Given the description of an element on the screen output the (x, y) to click on. 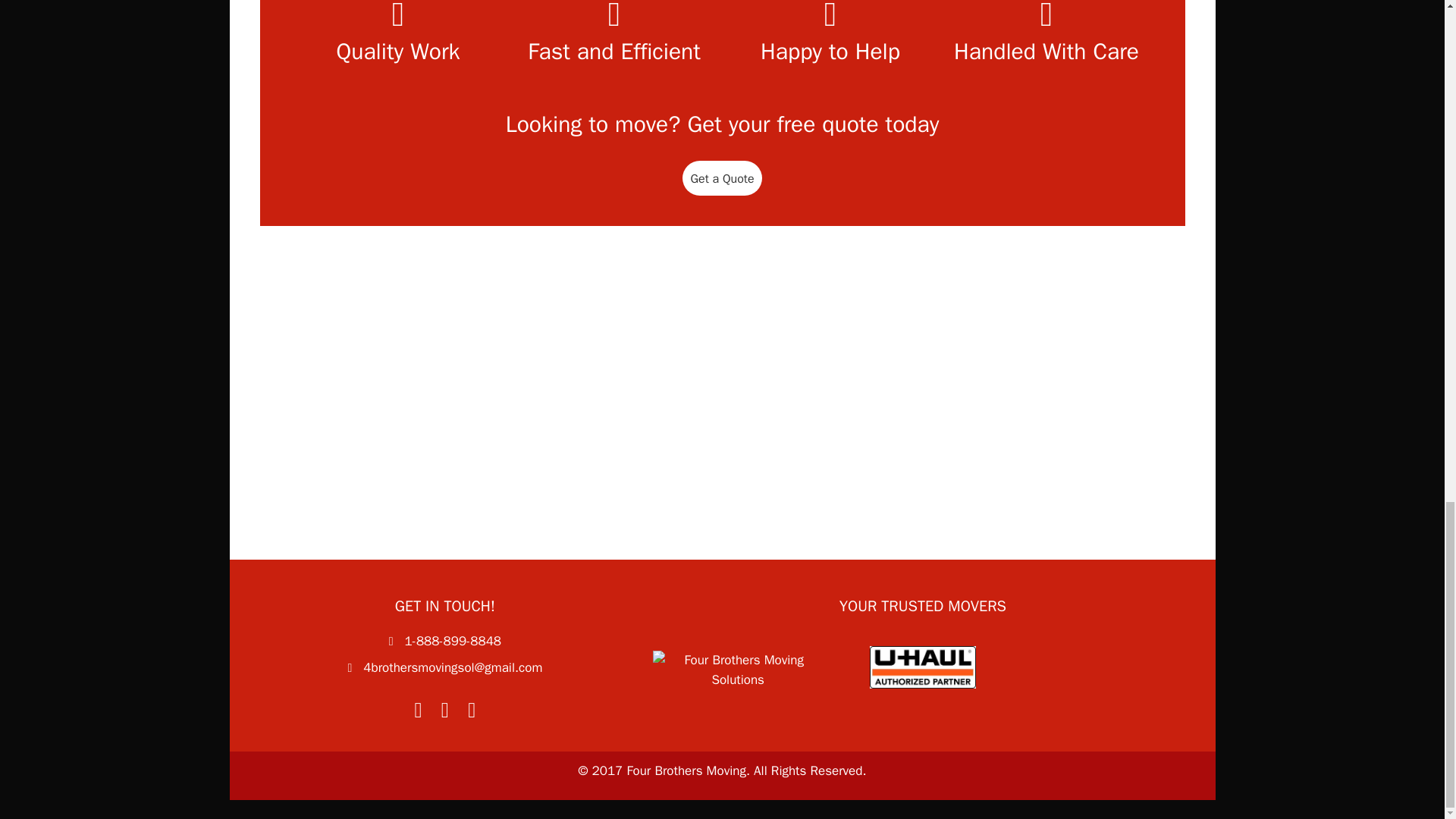
Get a Quote (721, 177)
1-888-899-8848 (452, 641)
